Given the description of an element on the screen output the (x, y) to click on. 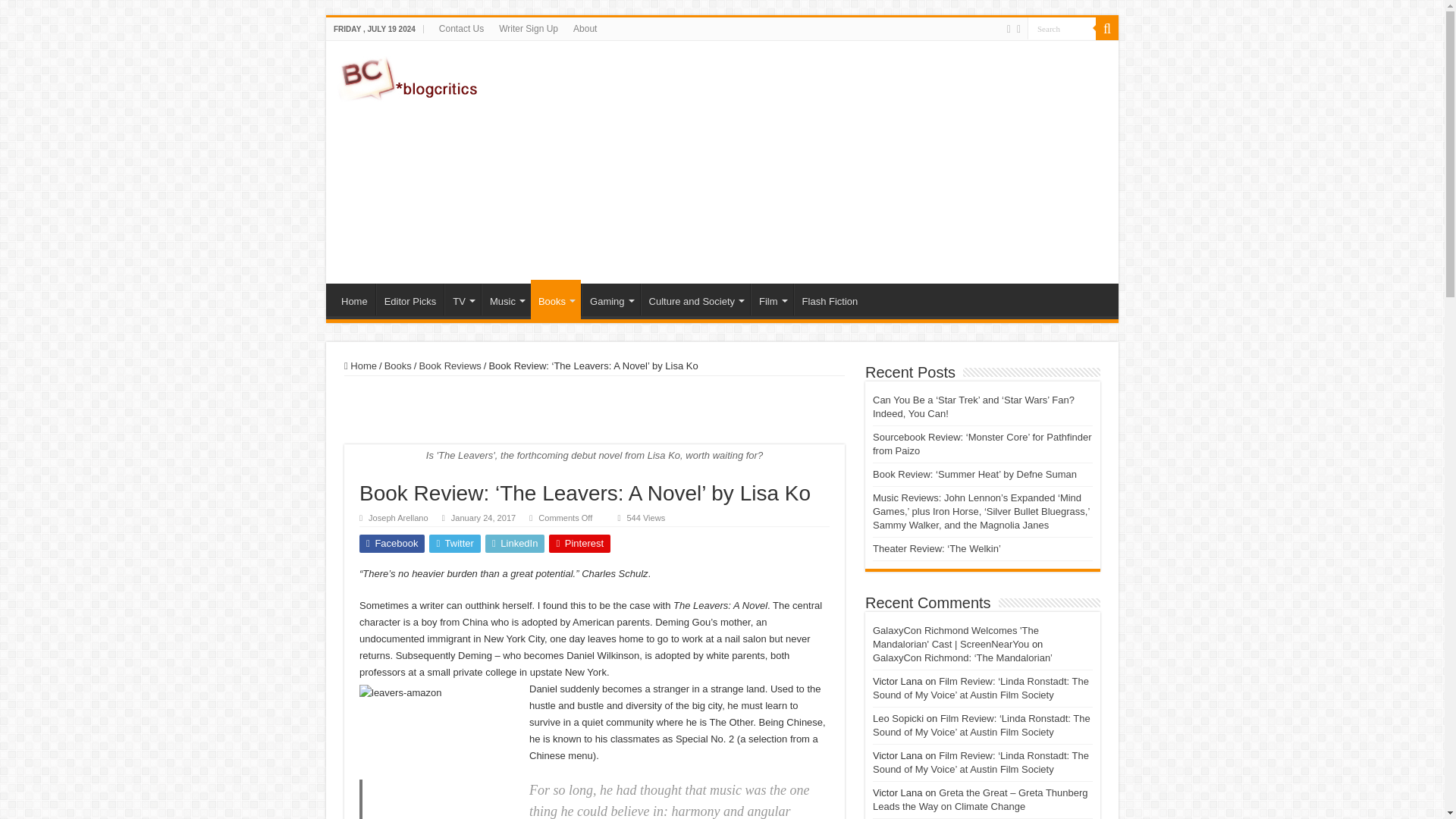
Search (1061, 28)
Search (1061, 28)
Search (1061, 28)
Blogcritics (409, 75)
Advertisement (830, 162)
